Given the description of an element on the screen output the (x, y) to click on. 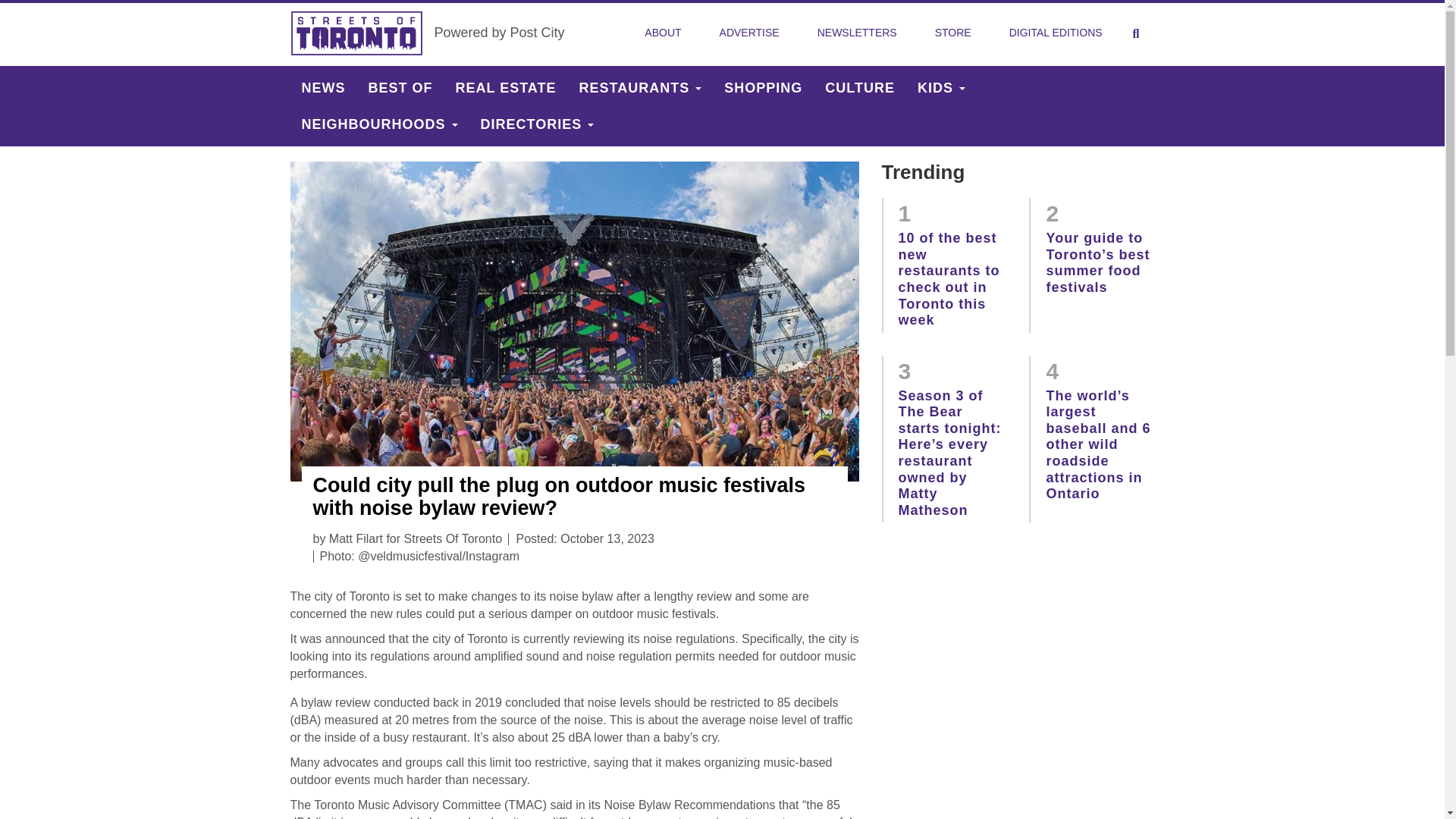
CULTURE (859, 87)
Streets Of Toronto (355, 33)
REAL ESTATE (505, 87)
STORE (953, 32)
BEST OF (400, 87)
ABOUT (661, 32)
NEWS (322, 87)
ADVERTISE (749, 32)
SHOPPING (763, 87)
RESTAURANTS (640, 87)
DIGITAL EDITIONS (1056, 32)
NEWSLETTERS (857, 32)
